Given the description of an element on the screen output the (x, y) to click on. 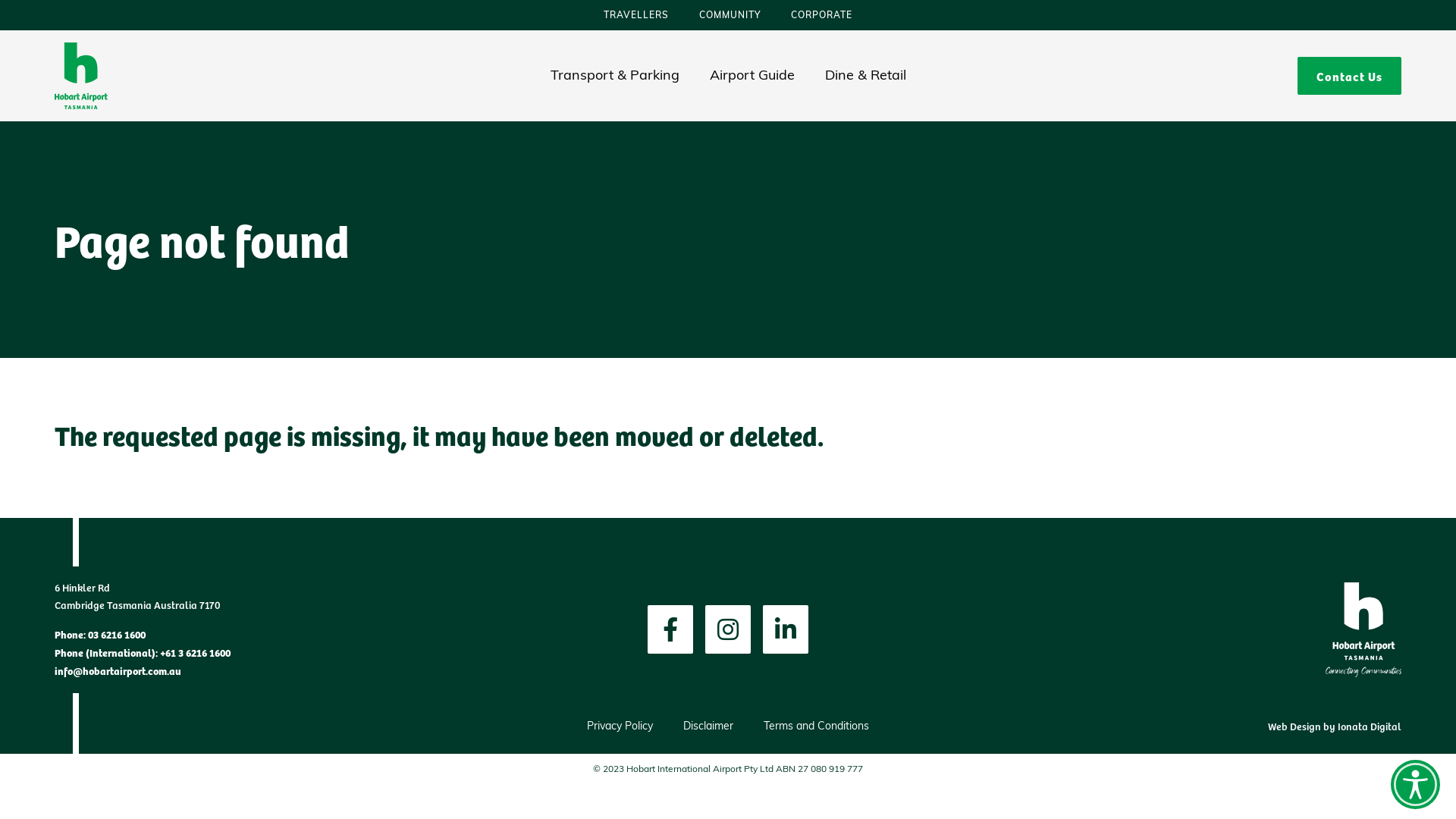
LinkedIn Element type: text (785, 629)
Phone: 03 6216 1600 Element type: text (99, 634)
Airport Guide Element type: text (751, 75)
Phone (International): +61 3 6216 1600 Element type: text (142, 652)
Dine & Retail Element type: text (865, 75)
Terms and Conditions Element type: text (816, 726)
Ionata Digital Element type: text (1369, 726)
Instagram Element type: text (727, 629)
CORPORATE Element type: text (821, 15)
COMMUNITY Element type: text (729, 15)
Contact Us Element type: text (1349, 75)
info@hobartairport.com.au Element type: text (117, 670)
Transport & Parking Element type: text (614, 75)
TRAVELLERS Element type: text (635, 15)
Privacy Policy Element type: text (619, 726)
Facebook Element type: text (670, 629)
Disclaimer Element type: text (708, 726)
